Given the description of an element on the screen output the (x, y) to click on. 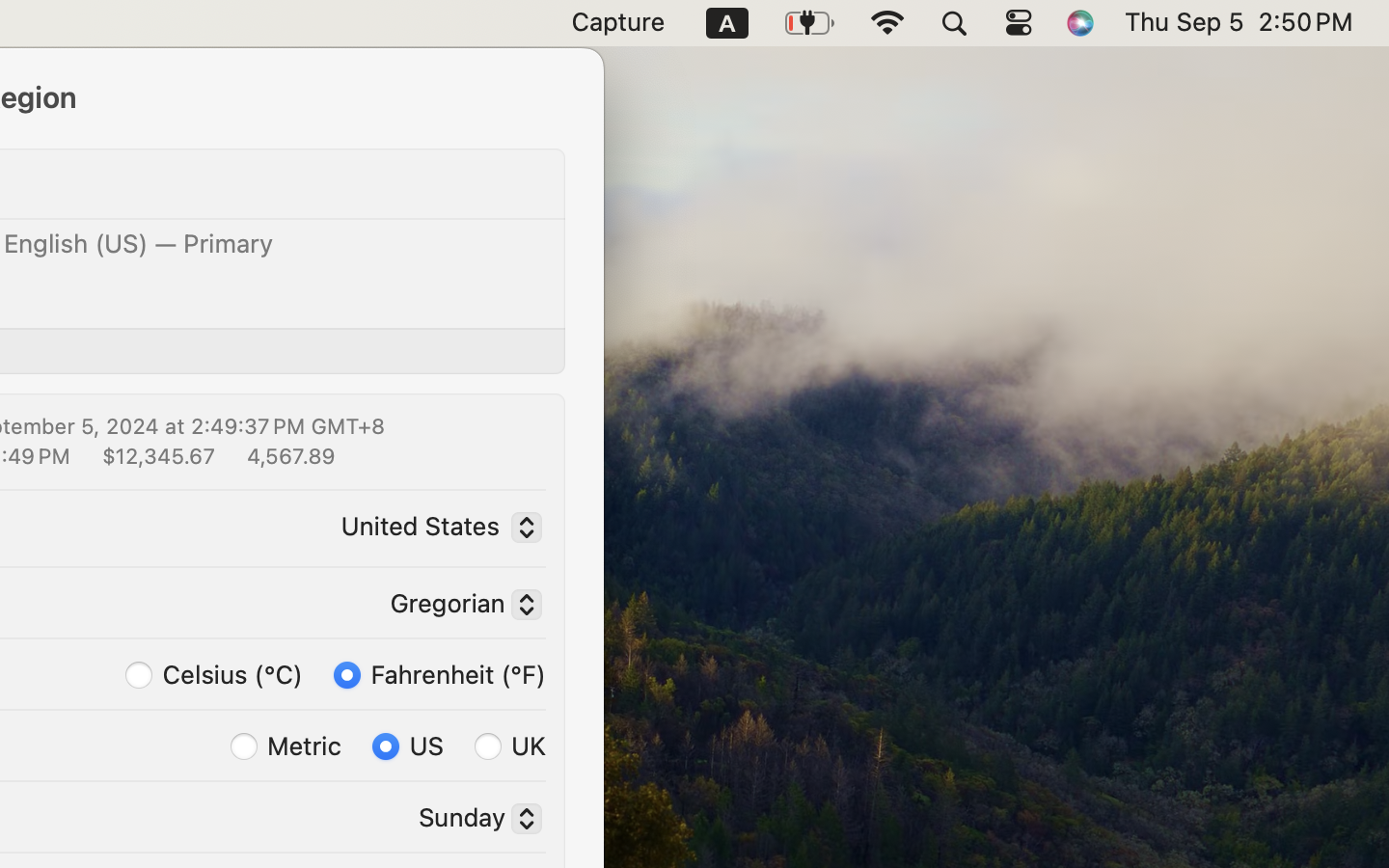
Gregorian Element type: AXPopUpButton (457, 606)
$12,345.67 Element type: AXStaticText (157, 454)
